Given the description of an element on the screen output the (x, y) to click on. 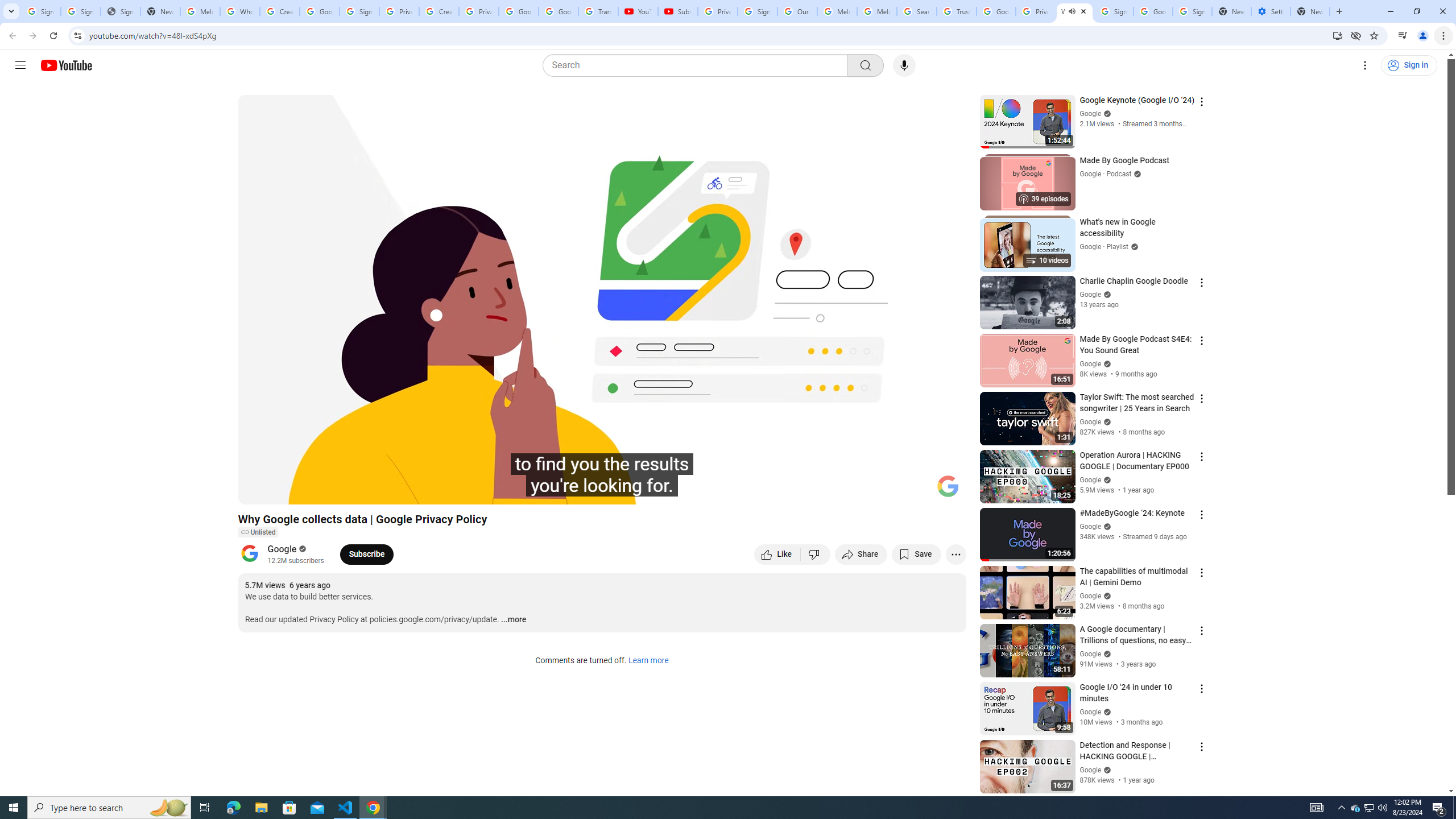
Save to playlist (915, 554)
Theater mode (t) (917, 490)
Subtitles/closed captions unavailable (836, 490)
Channel watermark (947, 486)
YouTube (637, 11)
Create your Google Account (279, 11)
Next (SHIFT+n) (284, 490)
